Given the description of an element on the screen output the (x, y) to click on. 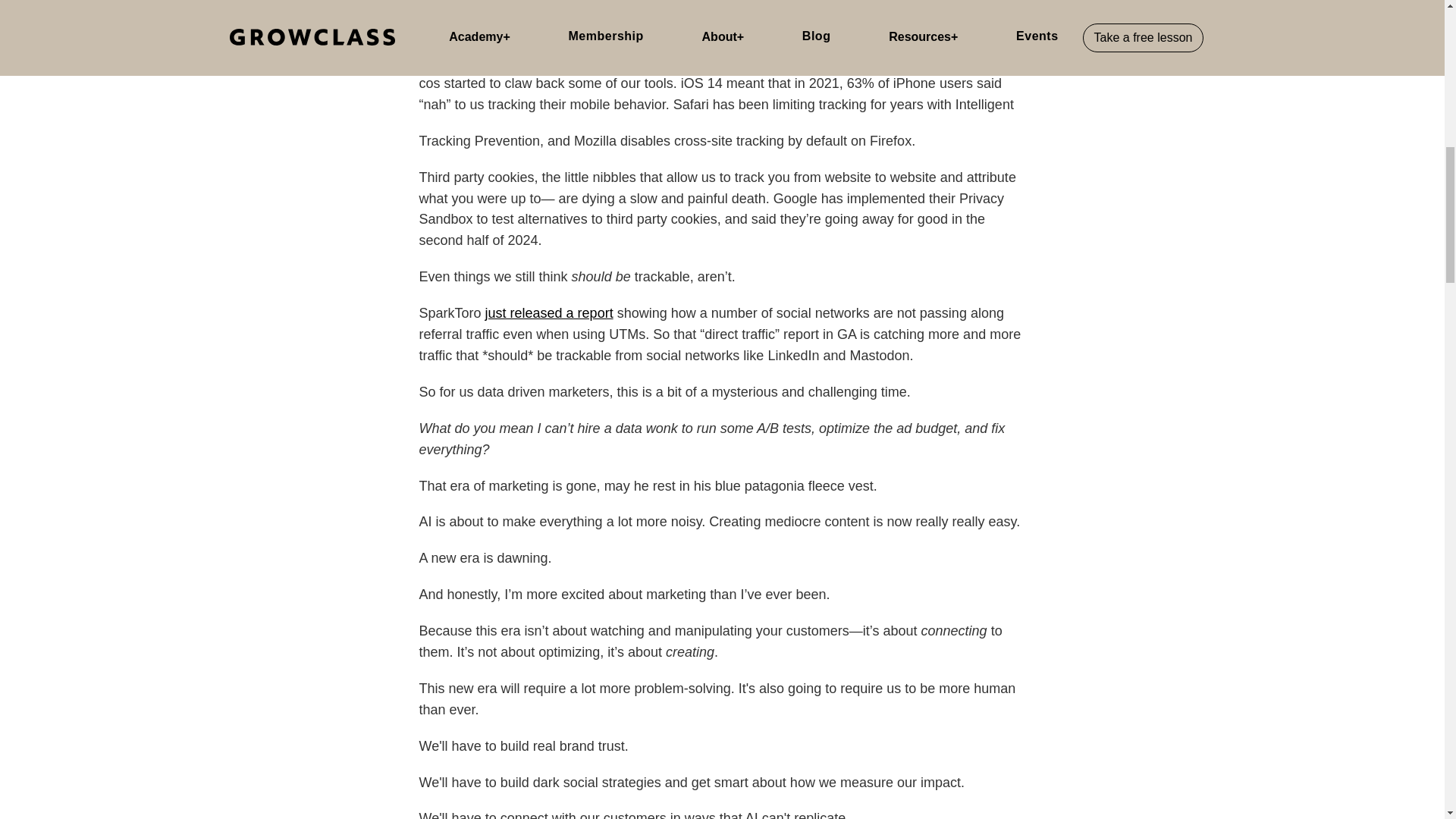
just released a report (548, 313)
